Given the description of an element on the screen output the (x, y) to click on. 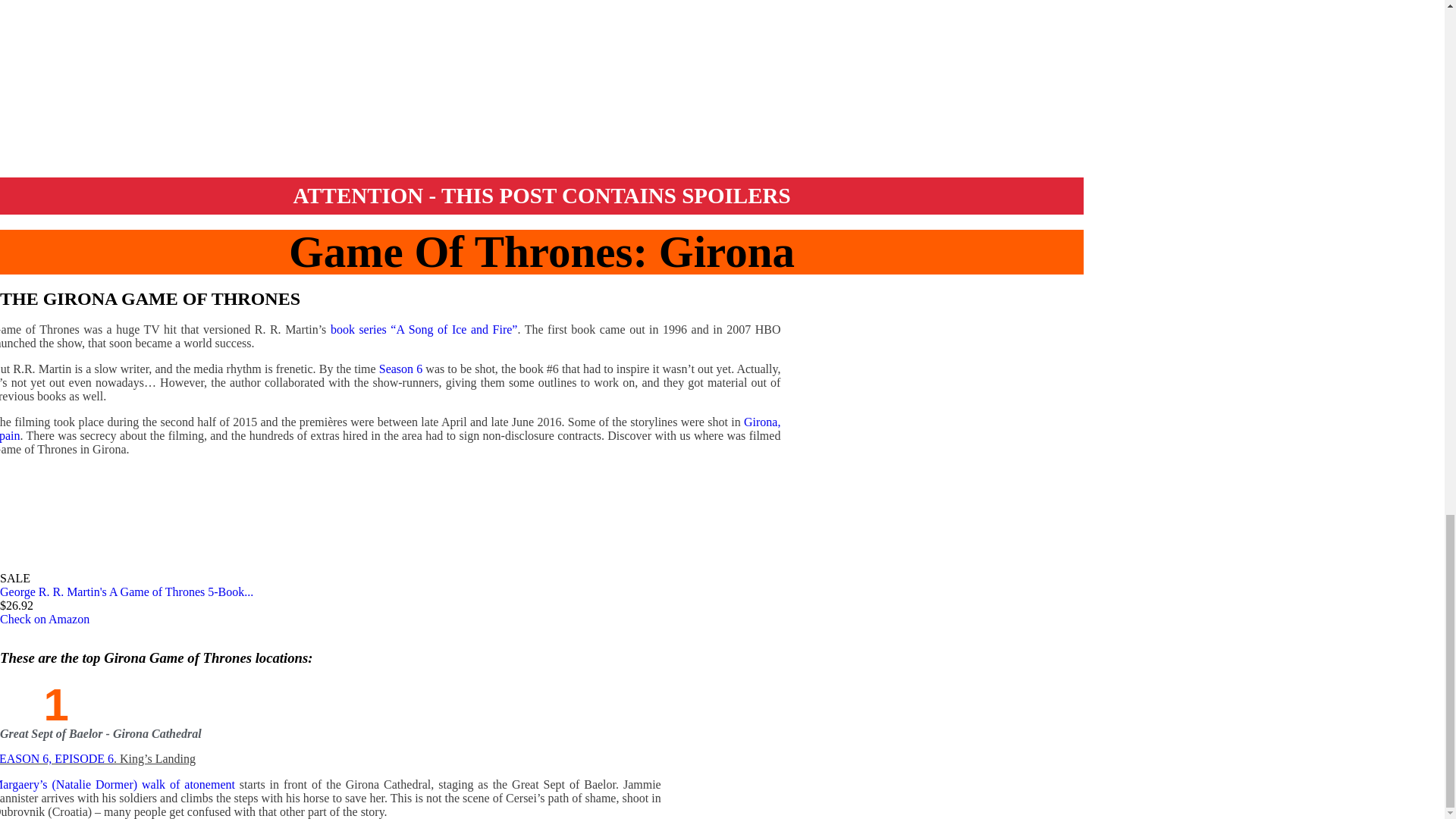
Check on Amazon (44, 618)
